Given the description of an element on the screen output the (x, y) to click on. 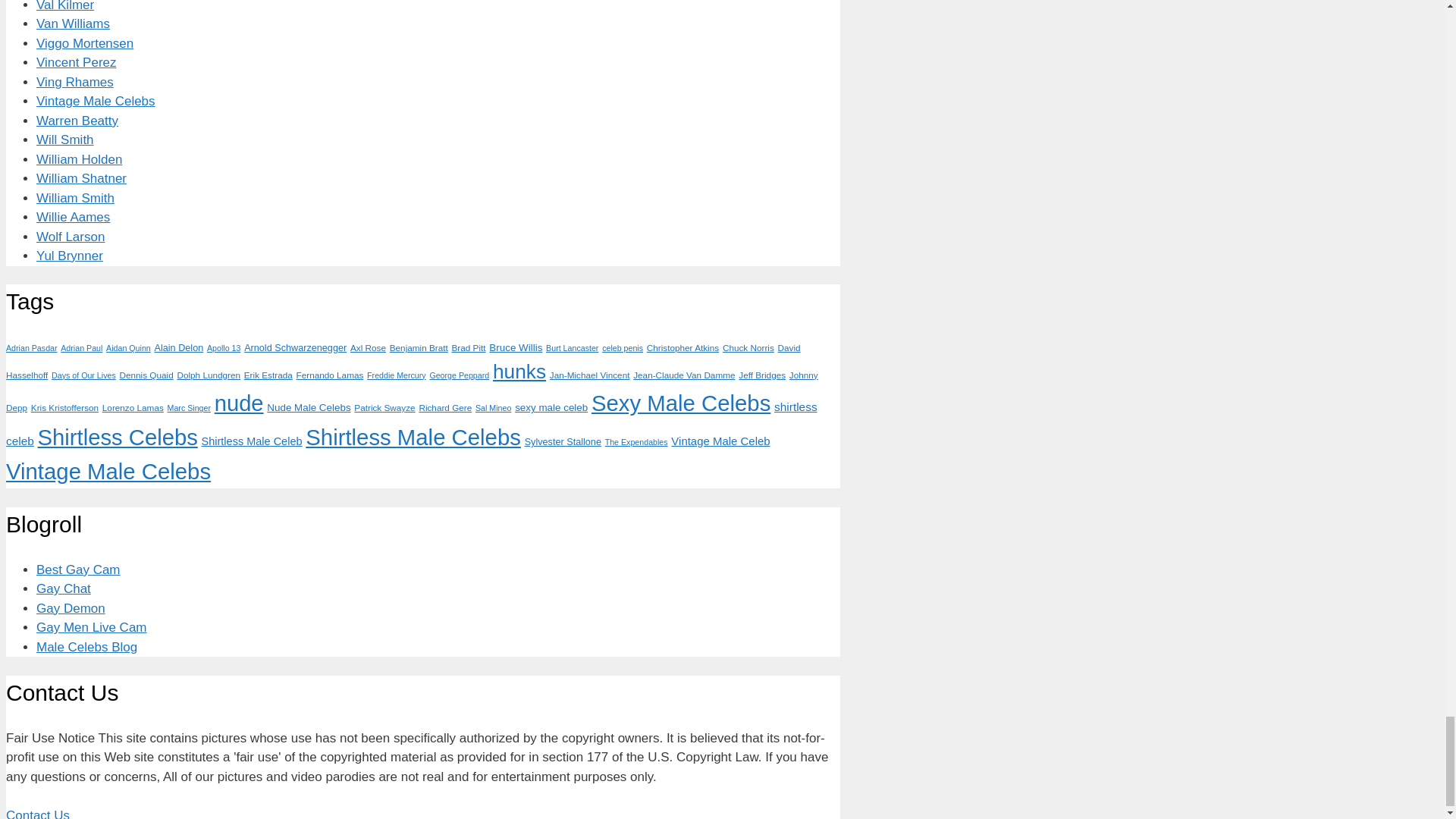
Best Gay Cam (78, 569)
Gay Chat (63, 588)
Gay Men Live Cam (91, 626)
Gay Demon (70, 608)
